Given the description of an element on the screen output the (x, y) to click on. 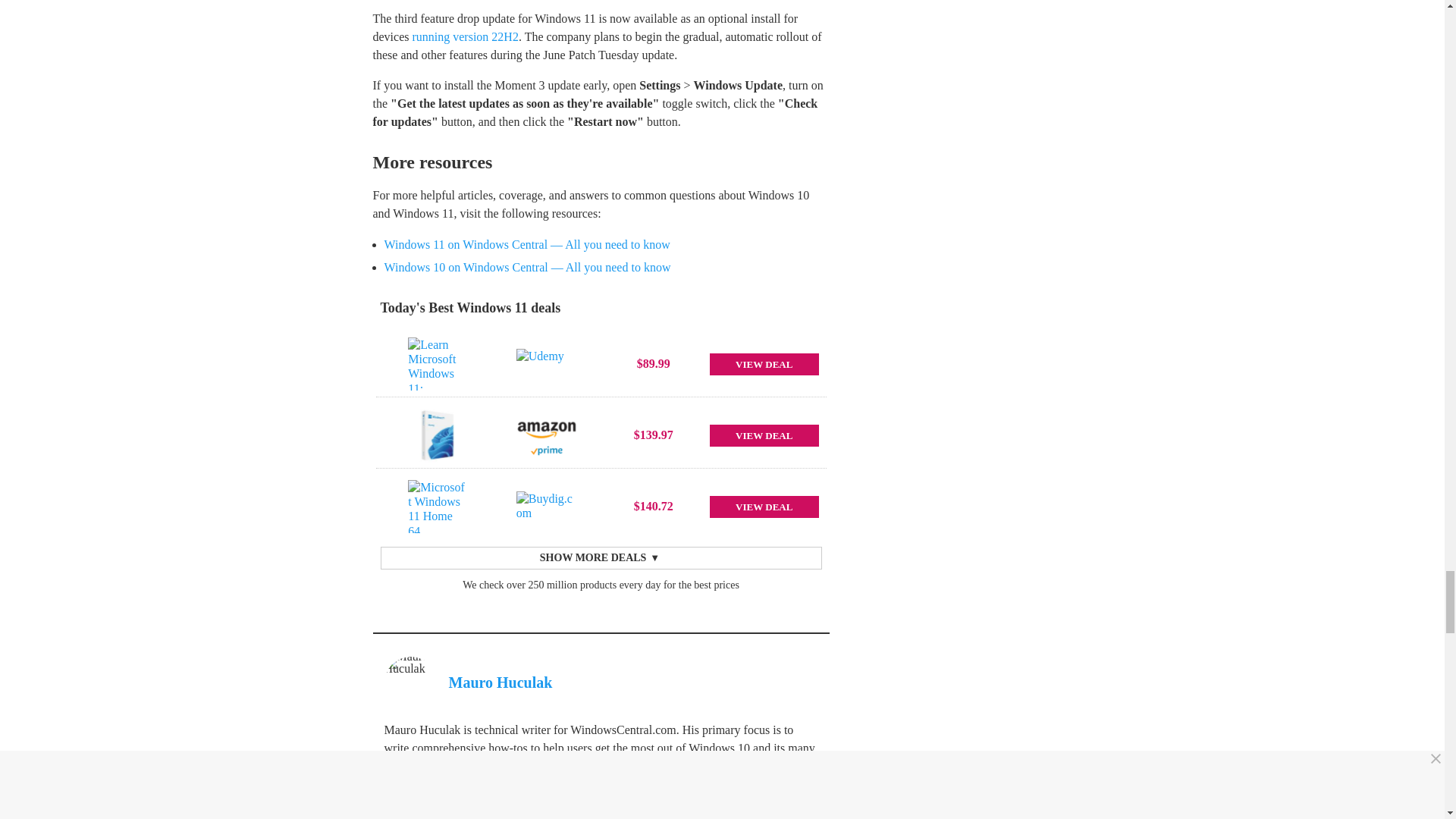
Prime (546, 450)
Microsoft Windows 11 Home 64... (437, 506)
Learn Microsoft Windows 11:... (437, 363)
Buydig.com (546, 506)
Udemy (546, 363)
Amazon (546, 427)
